Given the description of an element on the screen output the (x, y) to click on. 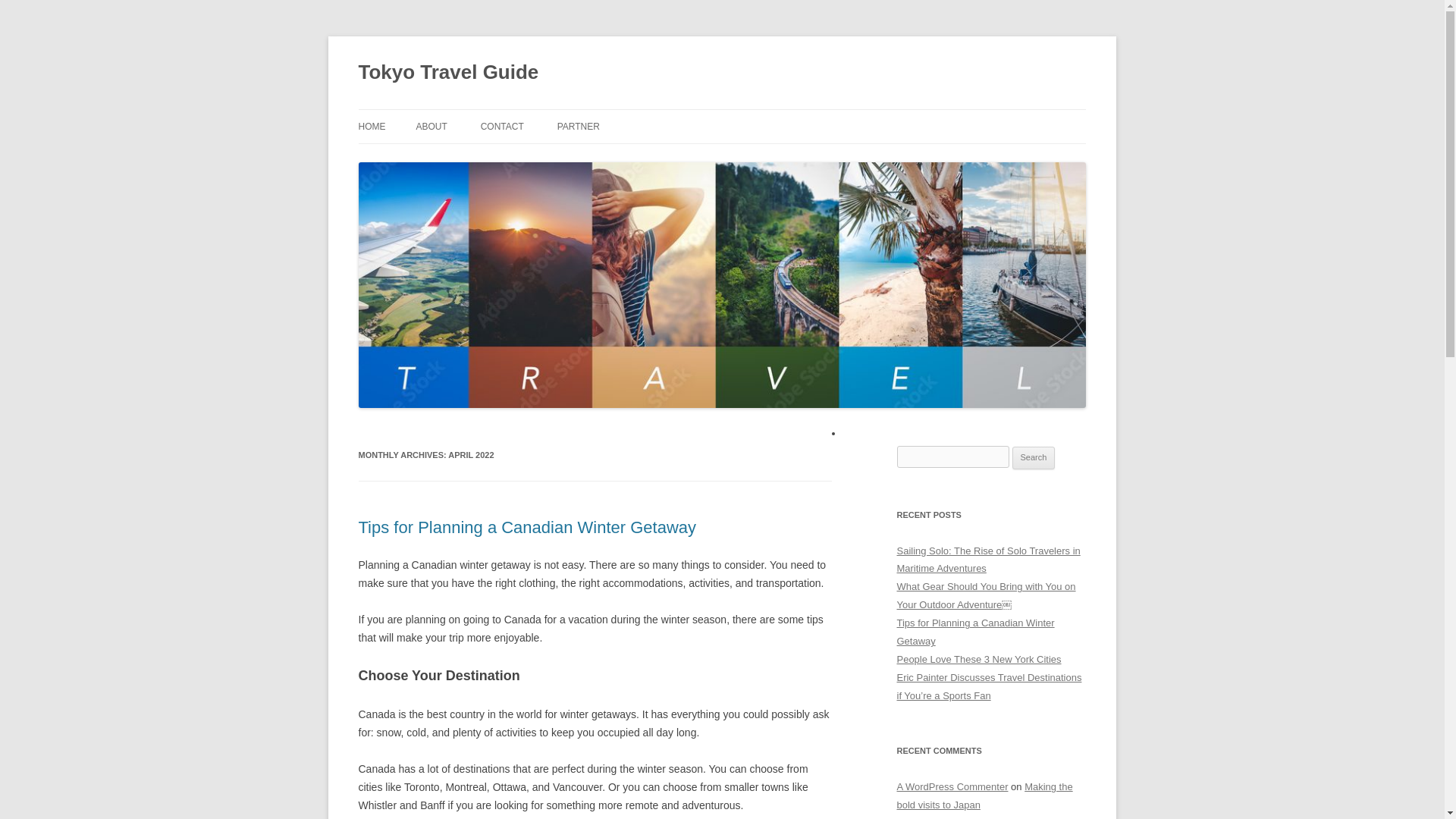
A WordPress Commenter (951, 786)
CONTACT (502, 126)
Tips for Planning a Canadian Winter Getaway (975, 632)
Tips for Planning a Canadian Winter Getaway (526, 527)
Making the bold visits to Japan (983, 795)
PARTNER (578, 126)
ABOUT (430, 126)
Search (1033, 457)
People Love These 3 New York Cities (978, 659)
Tokyo Travel Guide (448, 72)
Search (1033, 457)
